Given the description of an element on the screen output the (x, y) to click on. 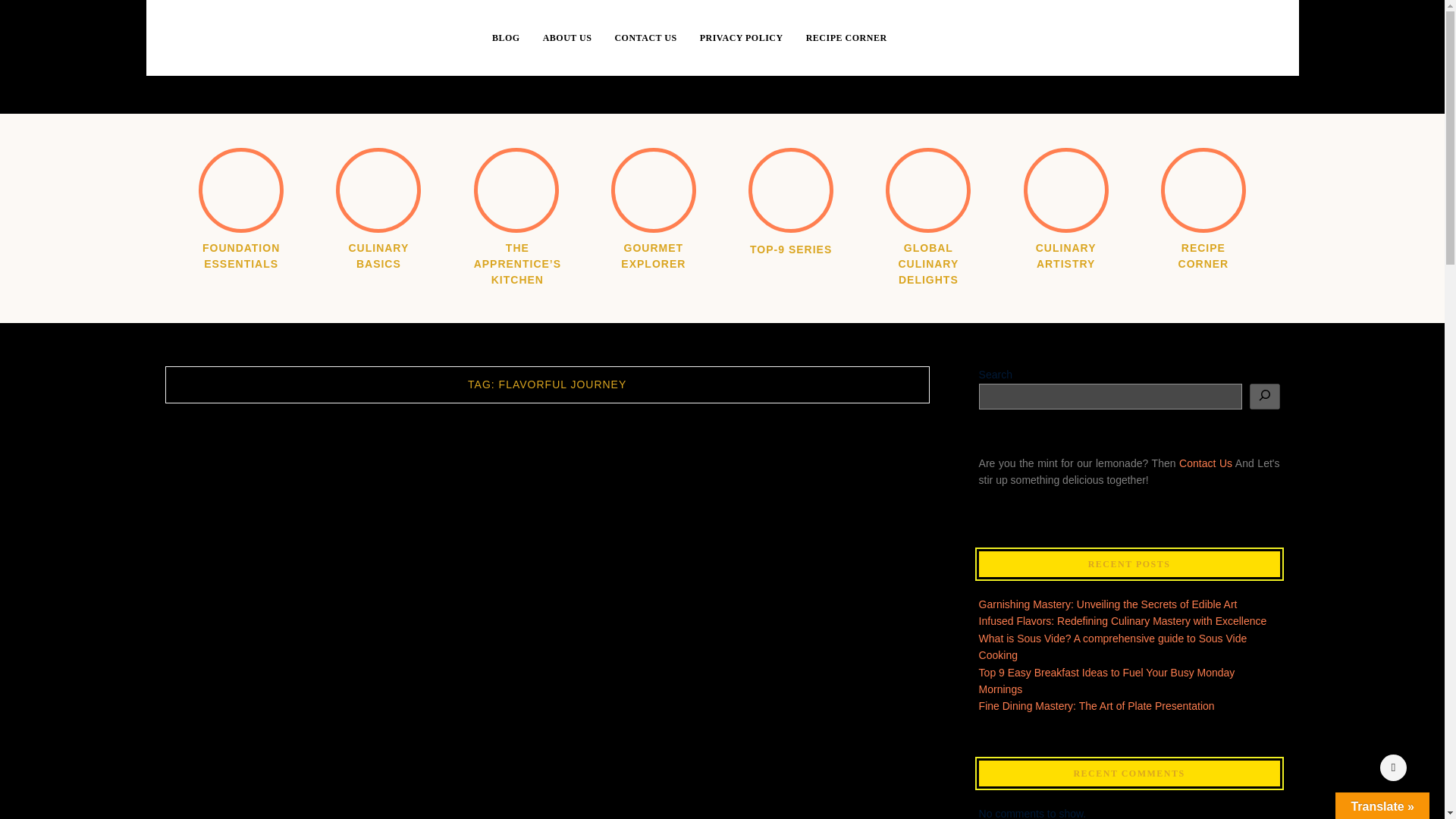
Infused Flavors: Redefining Culinary Mastery with Excellence (1122, 621)
ABOUT US (578, 37)
RECIPE CORNER (846, 37)
BLOG (517, 37)
Fine Dining Mastery: The Art of Plate Presentation (1096, 705)
CONTACT US (656, 37)
Garnishing Mastery: Unveiling the Secrets of Edible Art (1107, 604)
Contact Us (1205, 463)
Top 9 Easy Breakfast Ideas to Fuel Your Busy Monday Mornings (1106, 680)
Scroll To Top (1393, 767)
PRIVACY POLICY (753, 37)
